Given the description of an element on the screen output the (x, y) to click on. 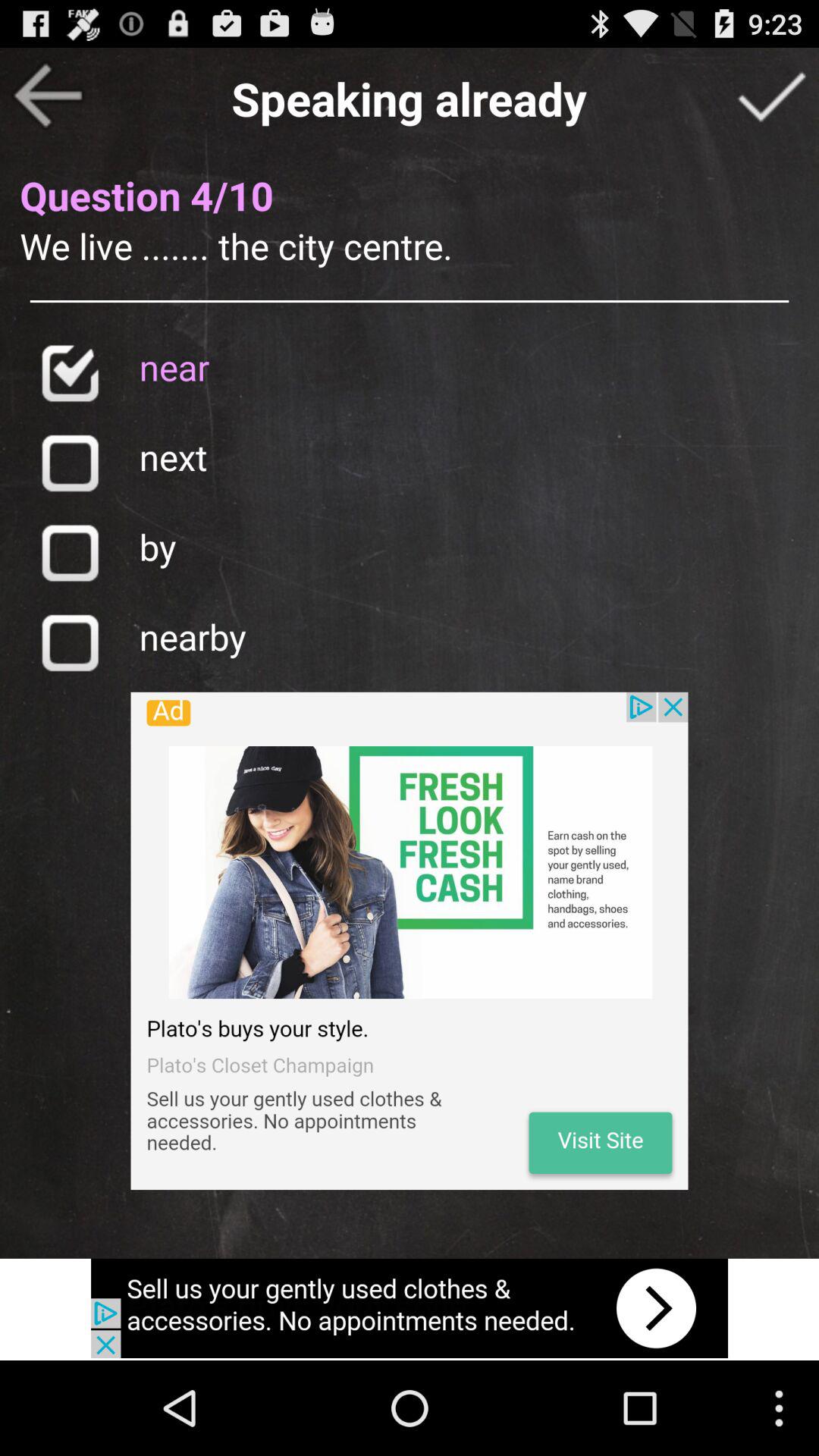
near option (69, 372)
